Given the description of an element on the screen output the (x, y) to click on. 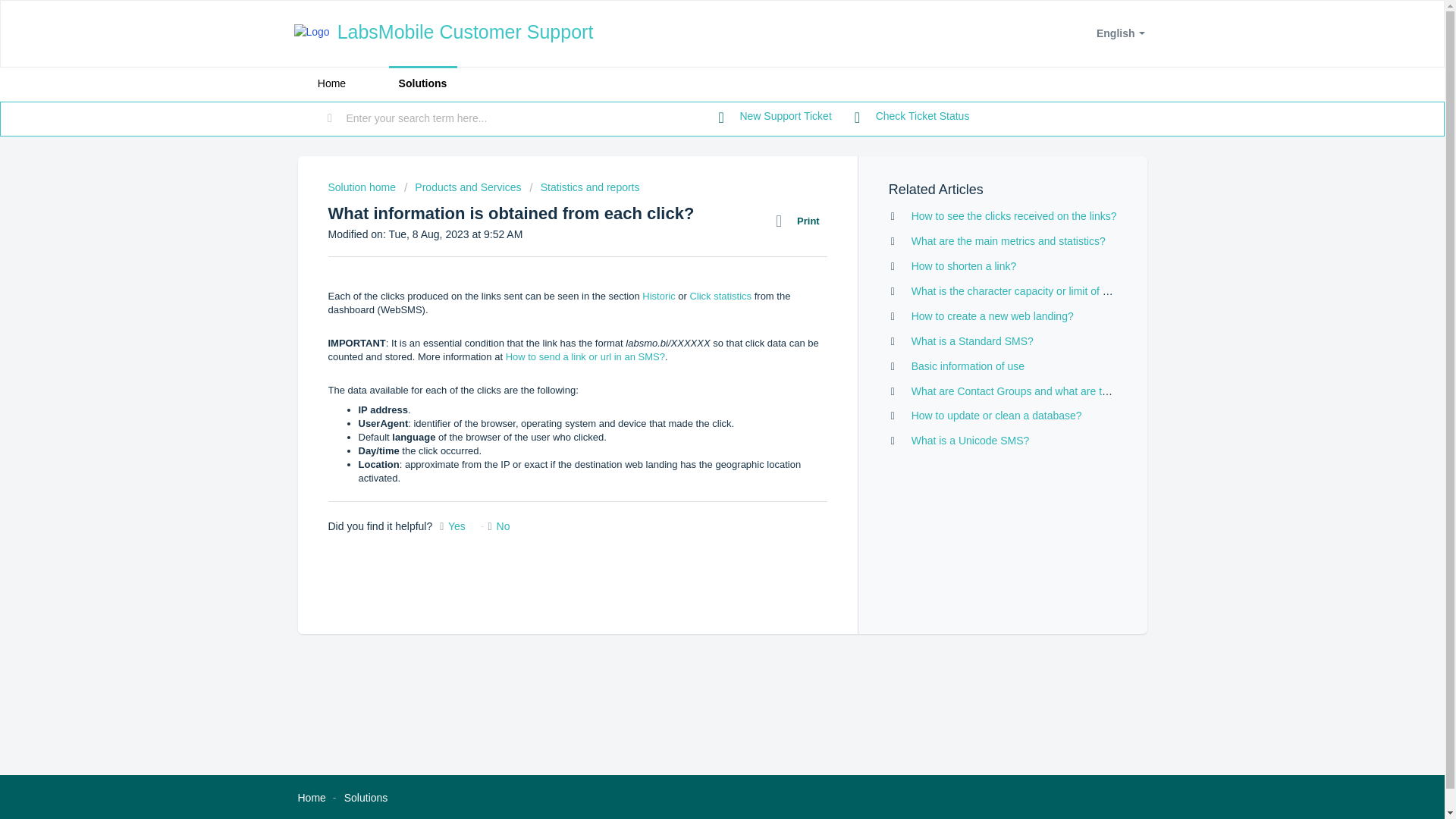
Products and Services (462, 186)
New support ticket (775, 116)
Statistics and reports (584, 186)
Check Ticket Status (911, 116)
What is the character capacity or limit of an SMS? (1029, 291)
New Support Ticket (775, 116)
Solutions (365, 797)
Print (801, 220)
How to update or clean a database? (996, 415)
Basic information of use (968, 366)
